Given the description of an element on the screen output the (x, y) to click on. 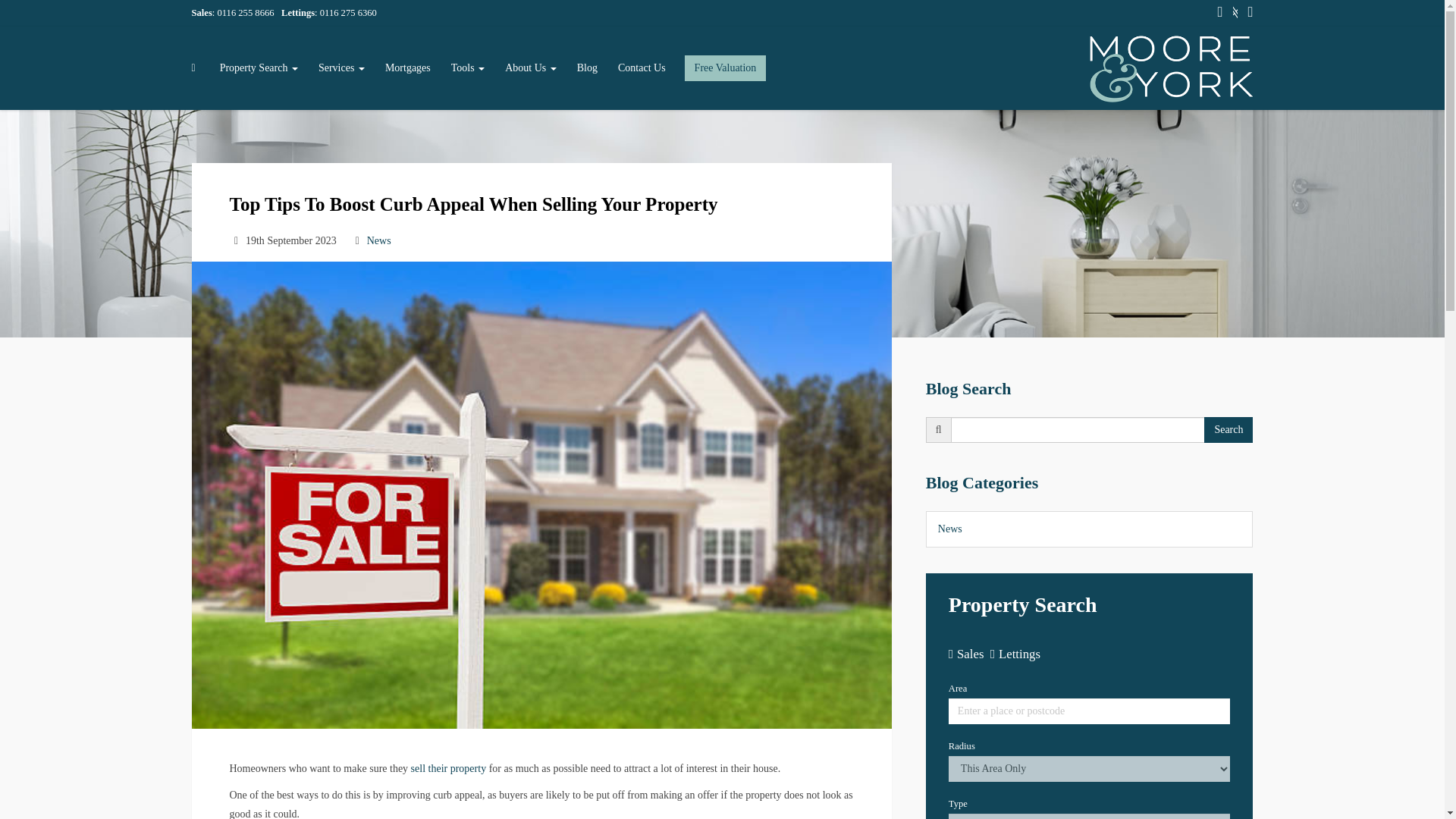
News (378, 240)
Search (1228, 429)
Moore and York - (1165, 67)
Free Valuation (725, 68)
0116 255 8666 (244, 12)
Property Search (258, 67)
sell their property (448, 767)
News (950, 528)
0116 275 6360 (348, 12)
